Given the description of an element on the screen output the (x, y) to click on. 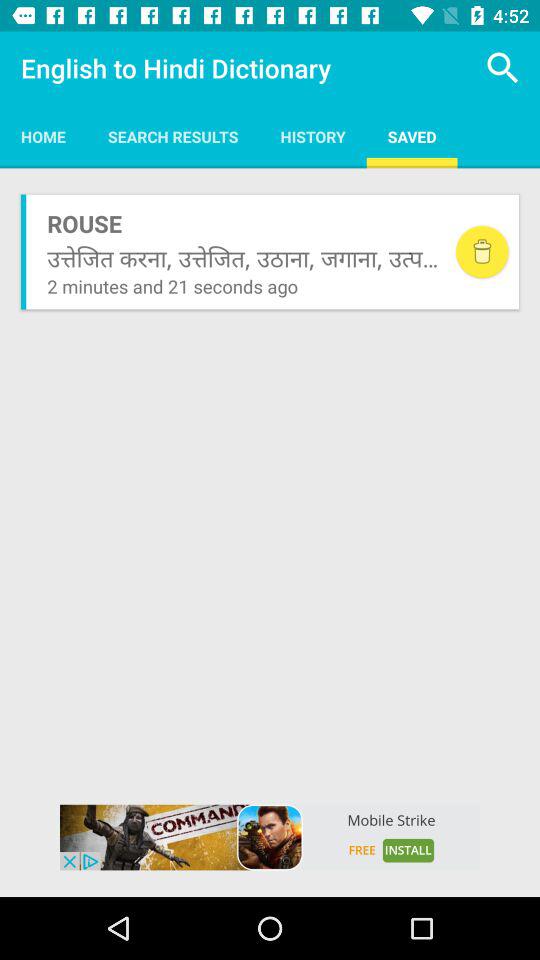
delete element (482, 251)
